Given the description of an element on the screen output the (x, y) to click on. 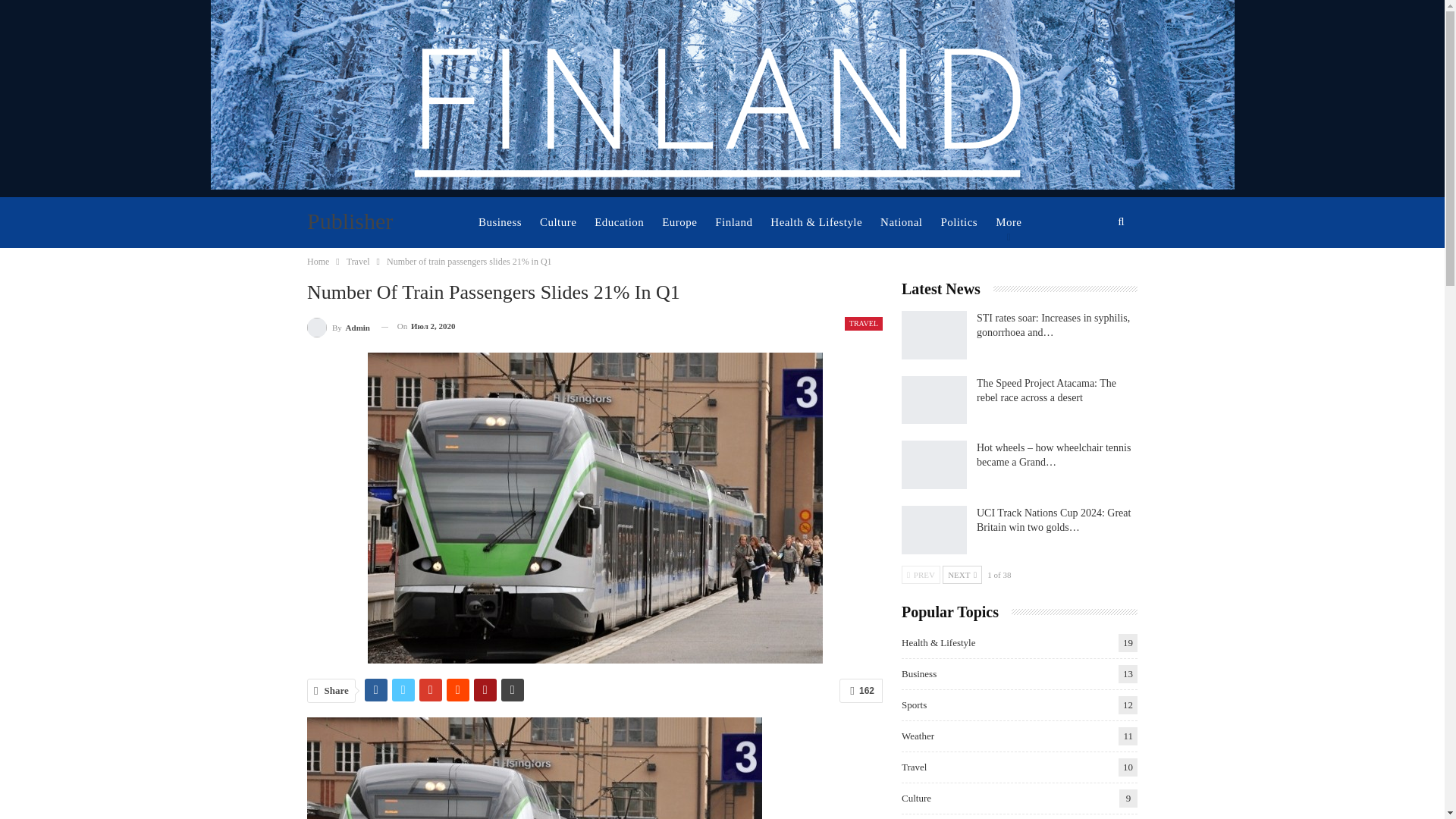
Education (619, 222)
TRAVEL (863, 323)
Travel (357, 261)
Politics (958, 222)
Finland (733, 222)
Europe (678, 222)
Business (500, 222)
Culture (557, 222)
Publisher (353, 220)
Home (318, 261)
